Given the description of an element on the screen output the (x, y) to click on. 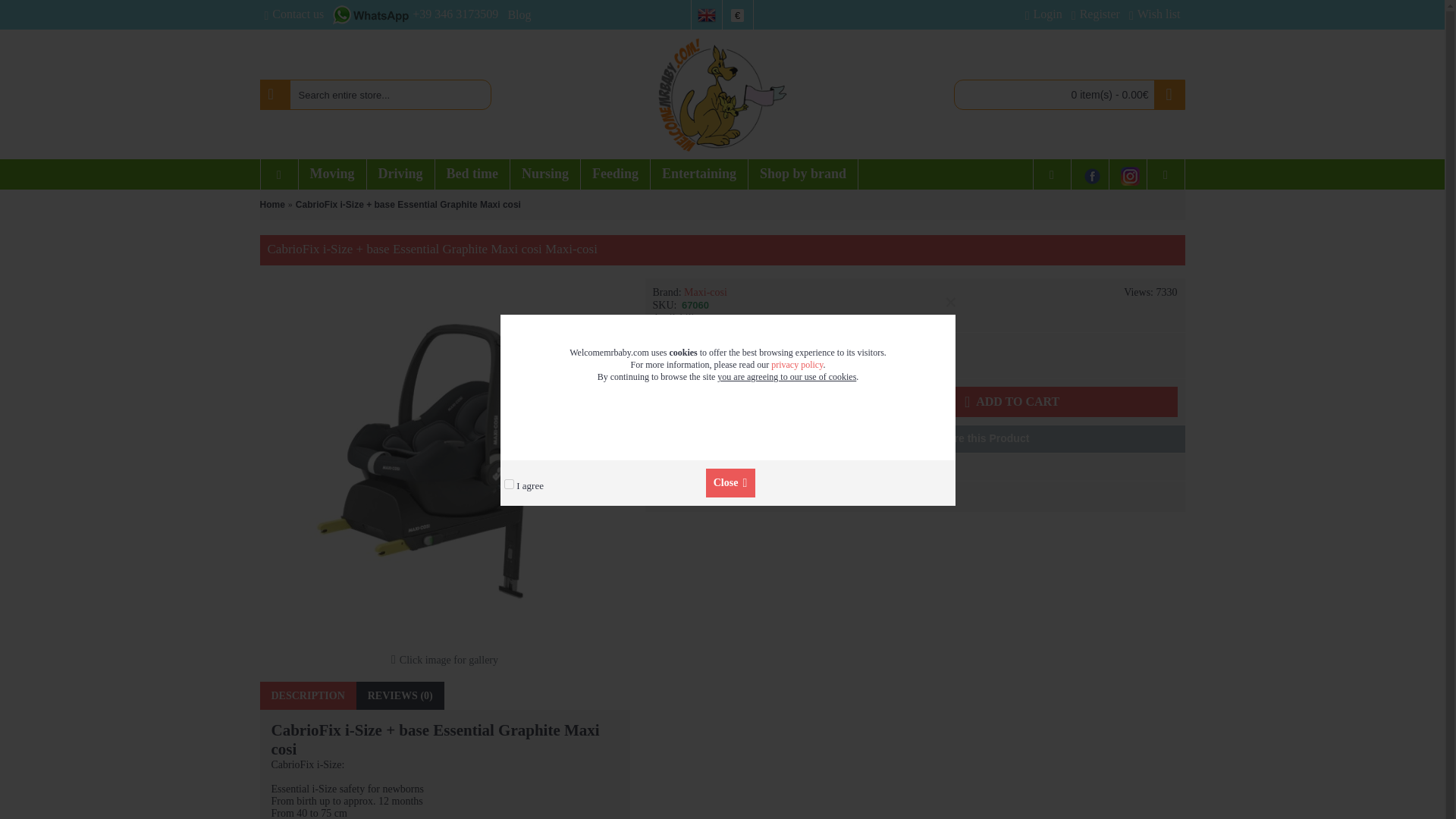
Moving (332, 173)
on (508, 483)
Wish list (1154, 15)
Close (730, 482)
Login (1043, 15)
Blog (518, 15)
Welcome mr baby! (722, 94)
privacy policy (796, 364)
Contact us (294, 15)
1 (741, 401)
